Given the description of an element on the screen output the (x, y) to click on. 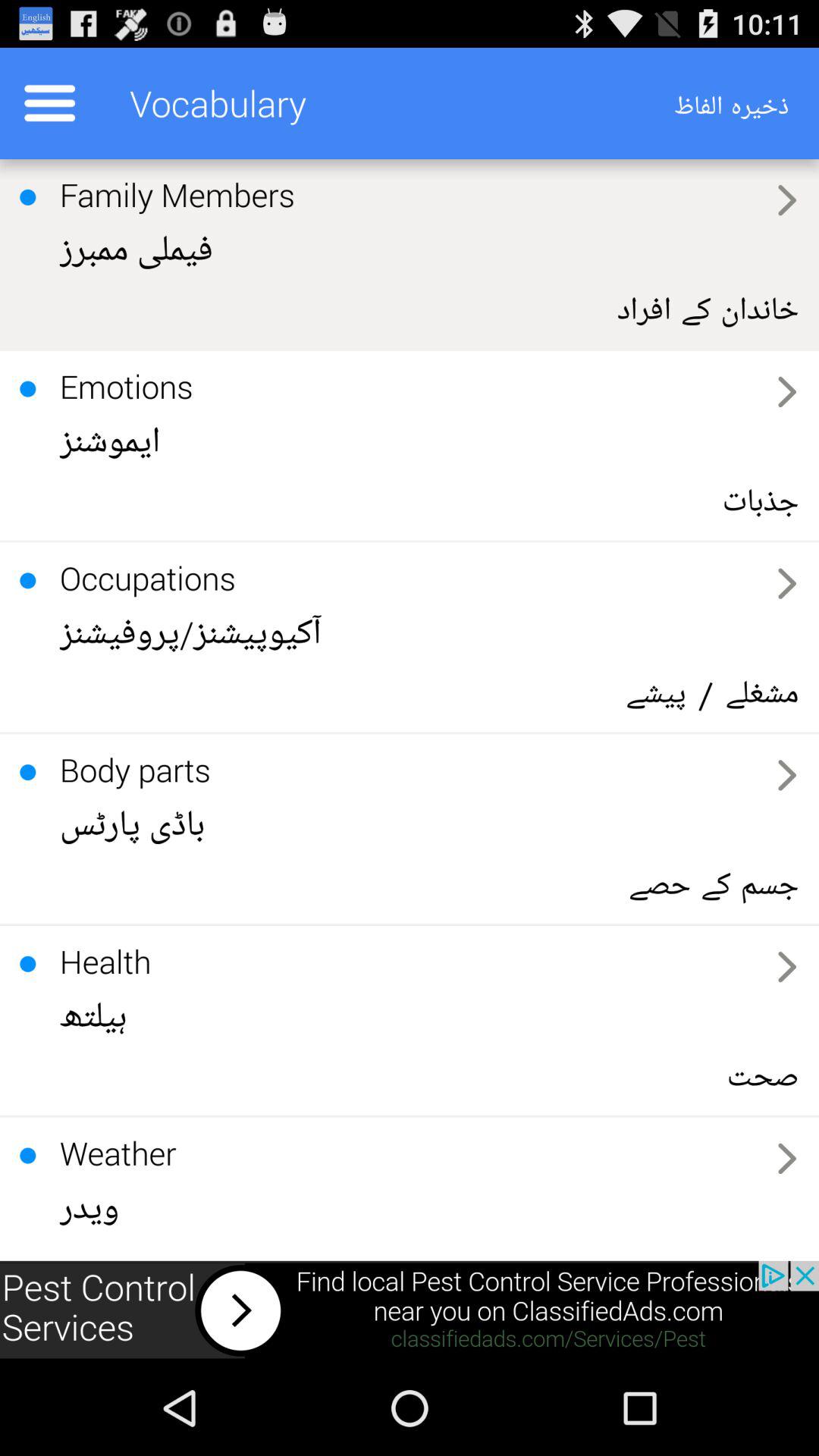
advertisement (409, 1310)
